Given the description of an element on the screen output the (x, y) to click on. 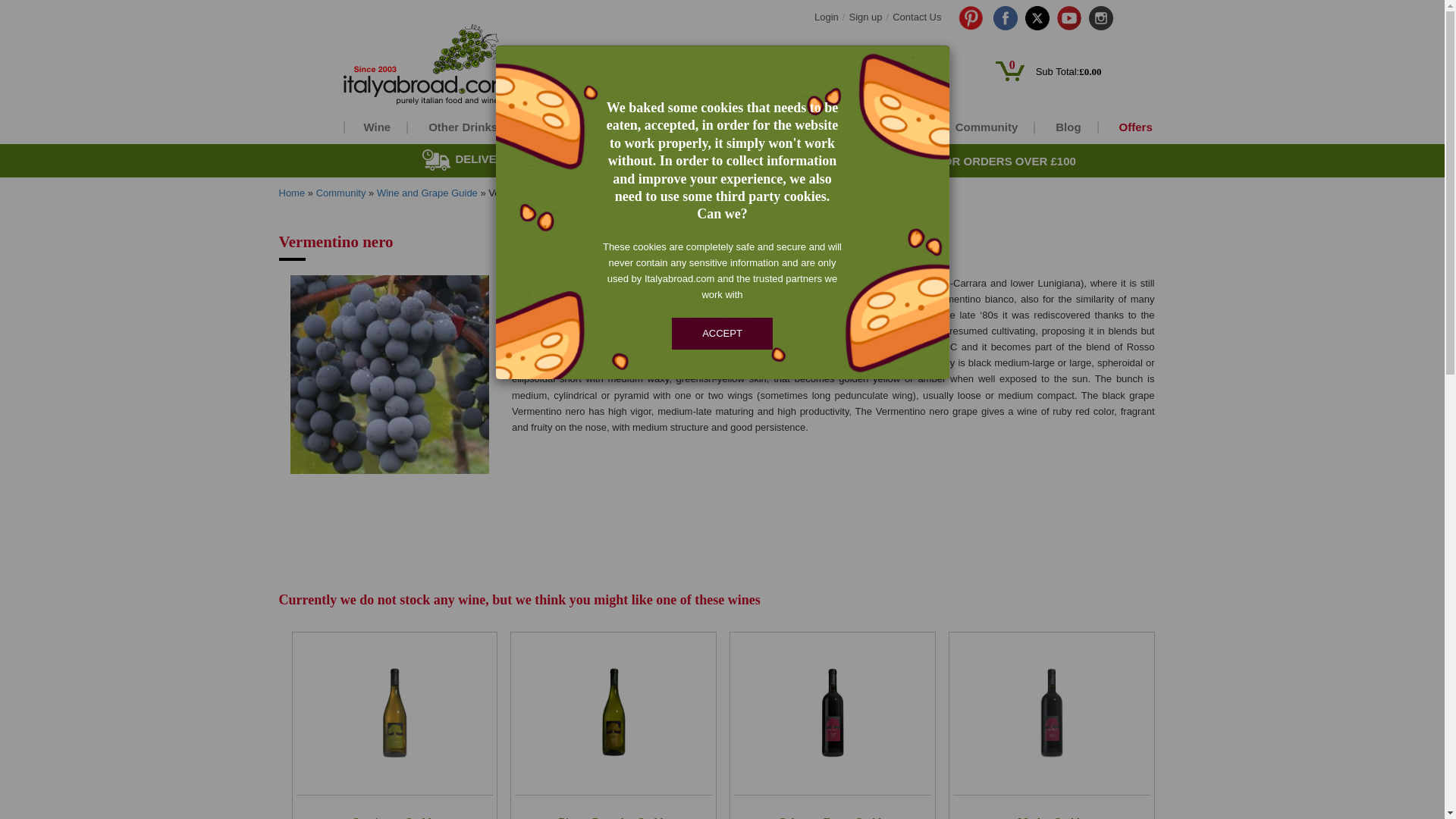
X (1037, 17)
Other Drinks (461, 127)
All Site (809, 74)
youtube (1069, 17)
Italian wine and food (460, 65)
Wine (374, 127)
pin (967, 16)
X (1037, 16)
Wine (374, 127)
Sign up (865, 16)
pin (970, 17)
Contact Us (916, 16)
Italian wine and food (425, 65)
facebook (1004, 16)
Login (825, 16)
